Given the description of an element on the screen output the (x, y) to click on. 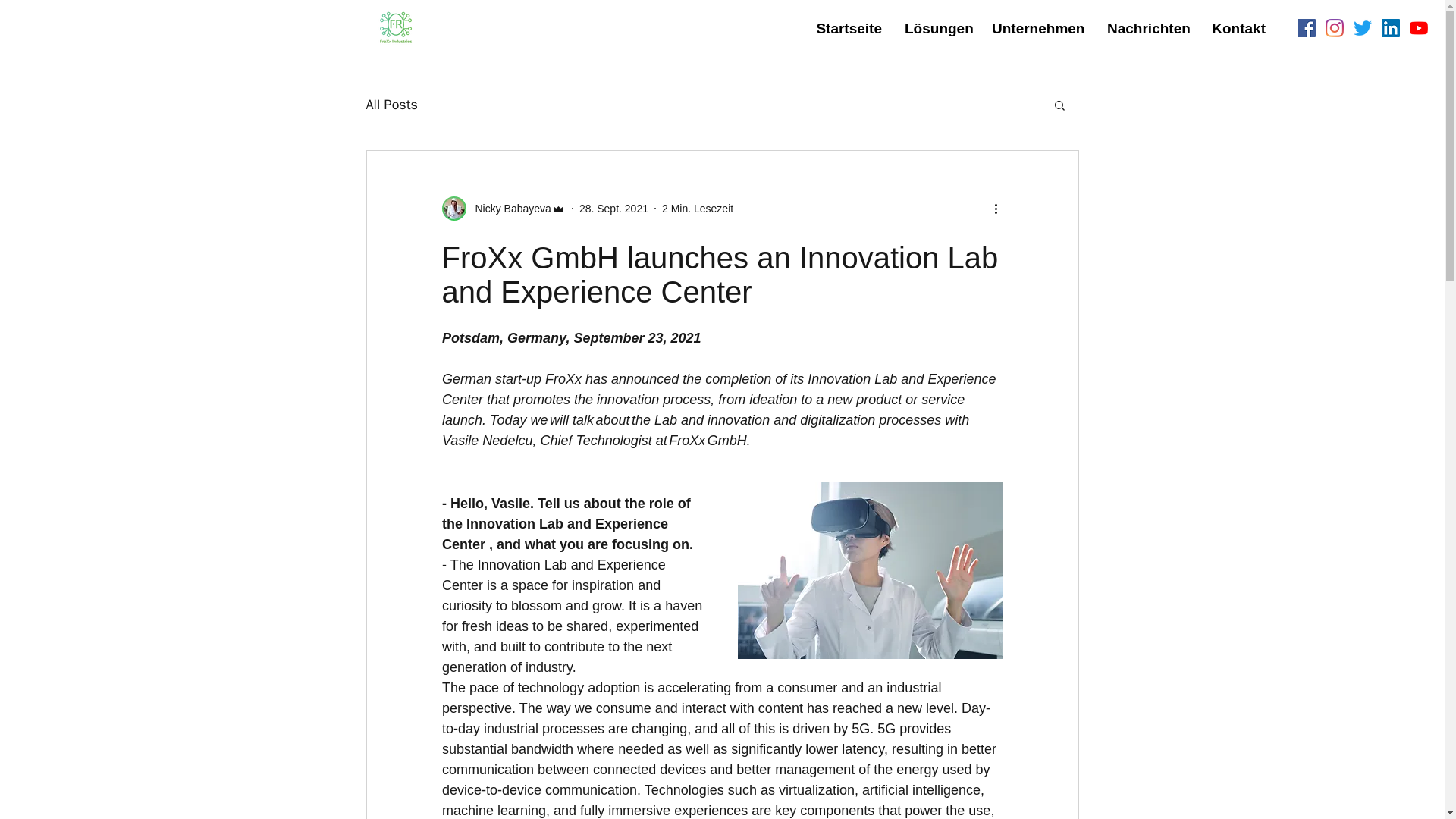
2 Min. Lesezeit (697, 207)
Startseite (847, 27)
Kontakt (1237, 27)
Nicky Babayeva (507, 207)
28. Sept. 2021 (613, 207)
All Posts (390, 104)
Nicky Babayeva (502, 208)
